Given the description of an element on the screen output the (x, y) to click on. 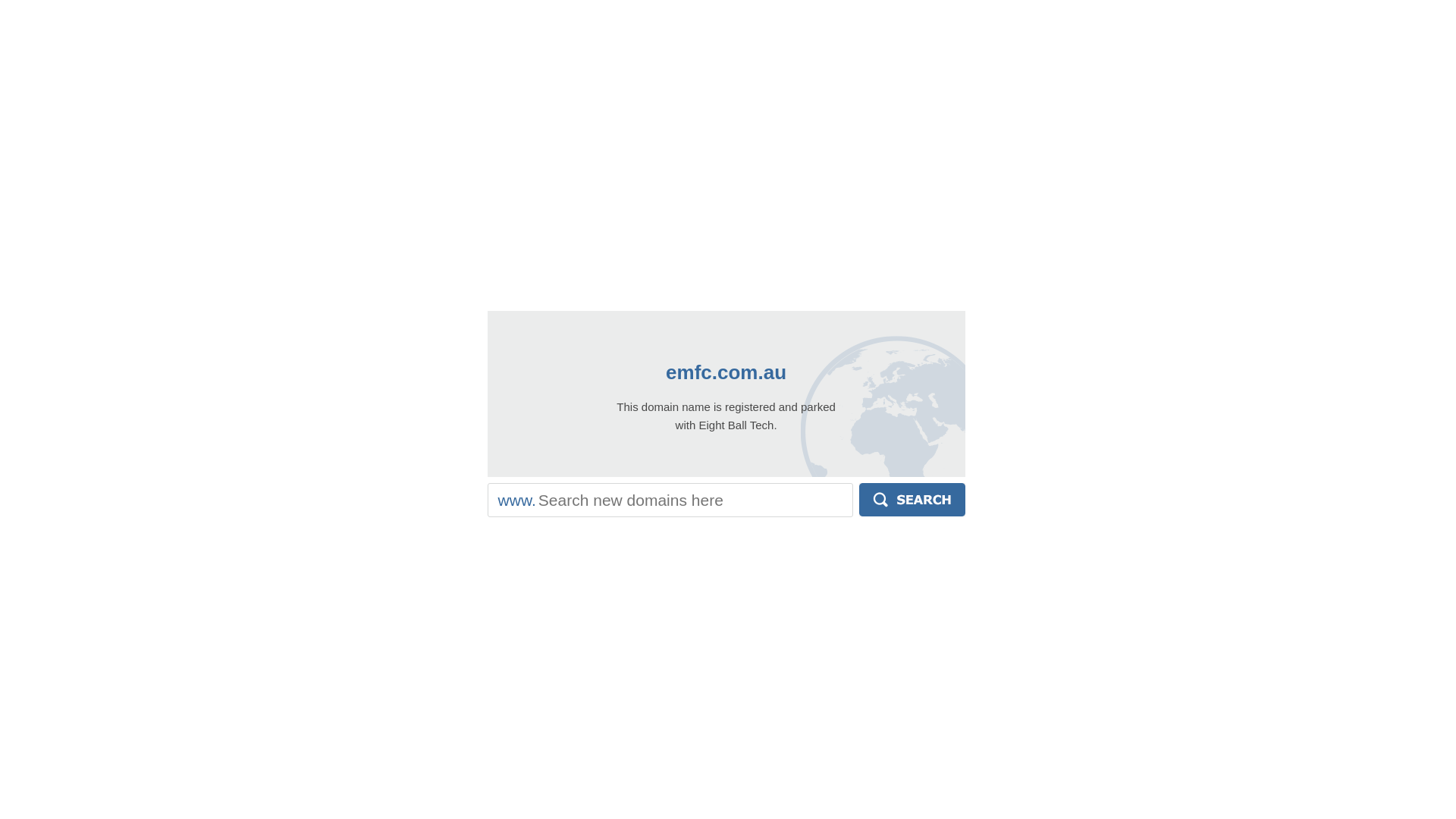
Search Element type: text (912, 499)
